Given the description of an element on the screen output the (x, y) to click on. 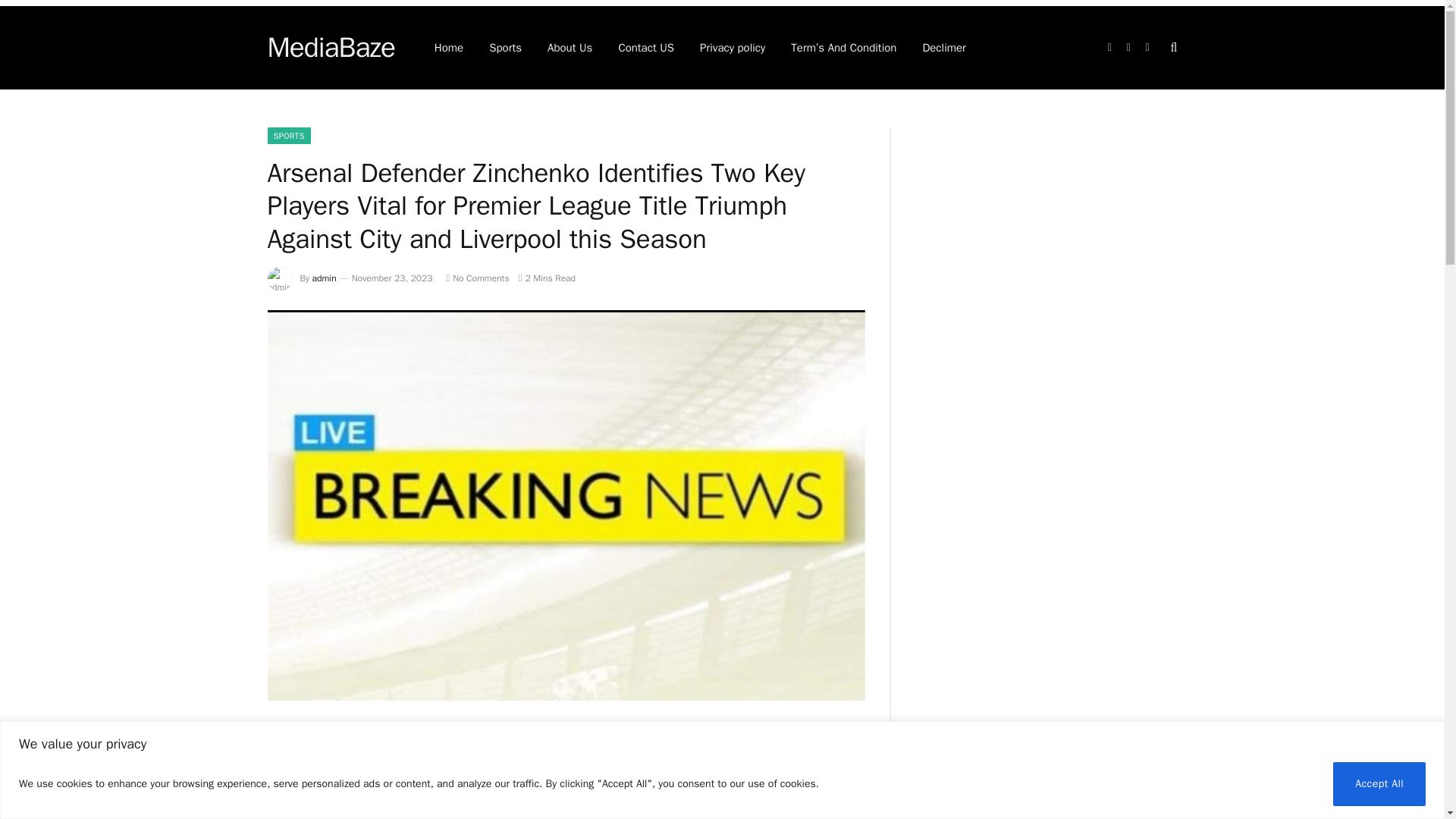
Accept All (1379, 783)
MediaBaze (330, 47)
No Comments (476, 277)
Posts by admin (324, 277)
admin (324, 277)
Privacy policy (732, 47)
Contact US (646, 47)
SPORTS (288, 135)
MediaBaze (330, 47)
